Given the description of an element on the screen output the (x, y) to click on. 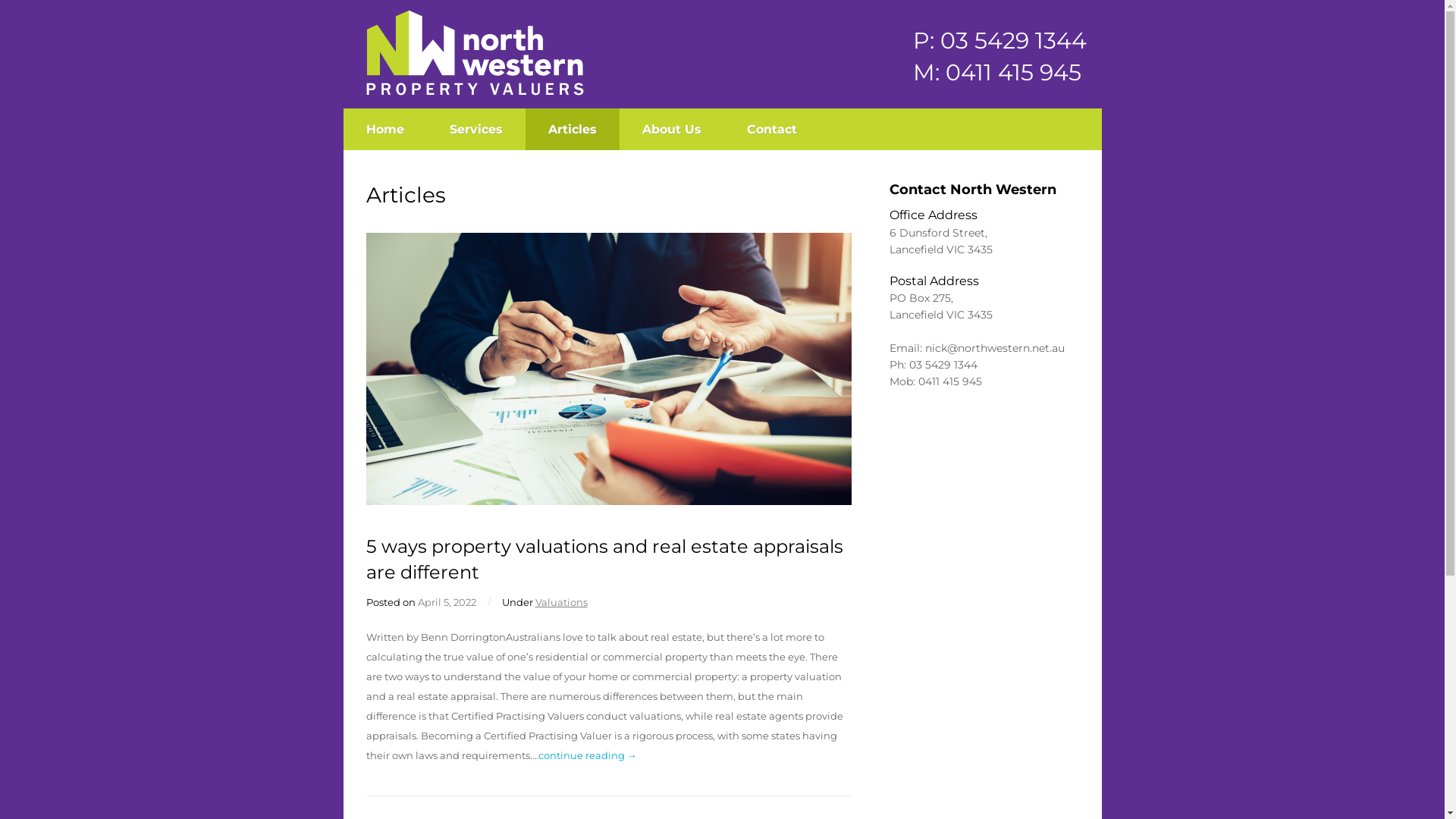
Valuations Element type: text (561, 602)
Services Element type: text (475, 129)
About Us Element type: text (670, 129)
Contact Element type: text (771, 129)
Home Element type: text (384, 129)
Articles Element type: text (571, 129)
